Given the description of an element on the screen output the (x, y) to click on. 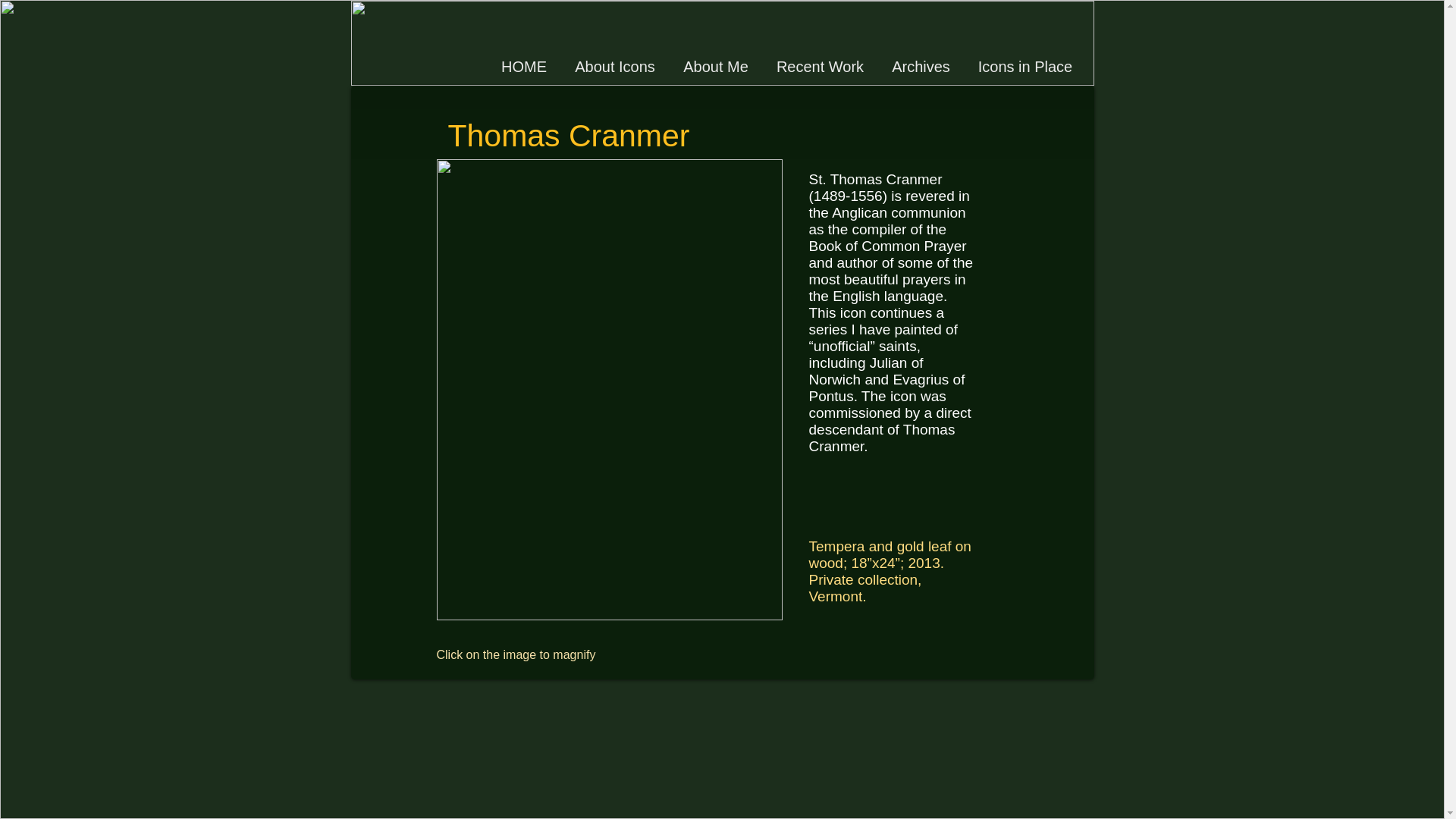
About Me (714, 66)
Archives (920, 66)
Icons in Place (1024, 66)
HOME (523, 66)
About Icons (614, 66)
Recent Work (819, 66)
